Given the description of an element on the screen output the (x, y) to click on. 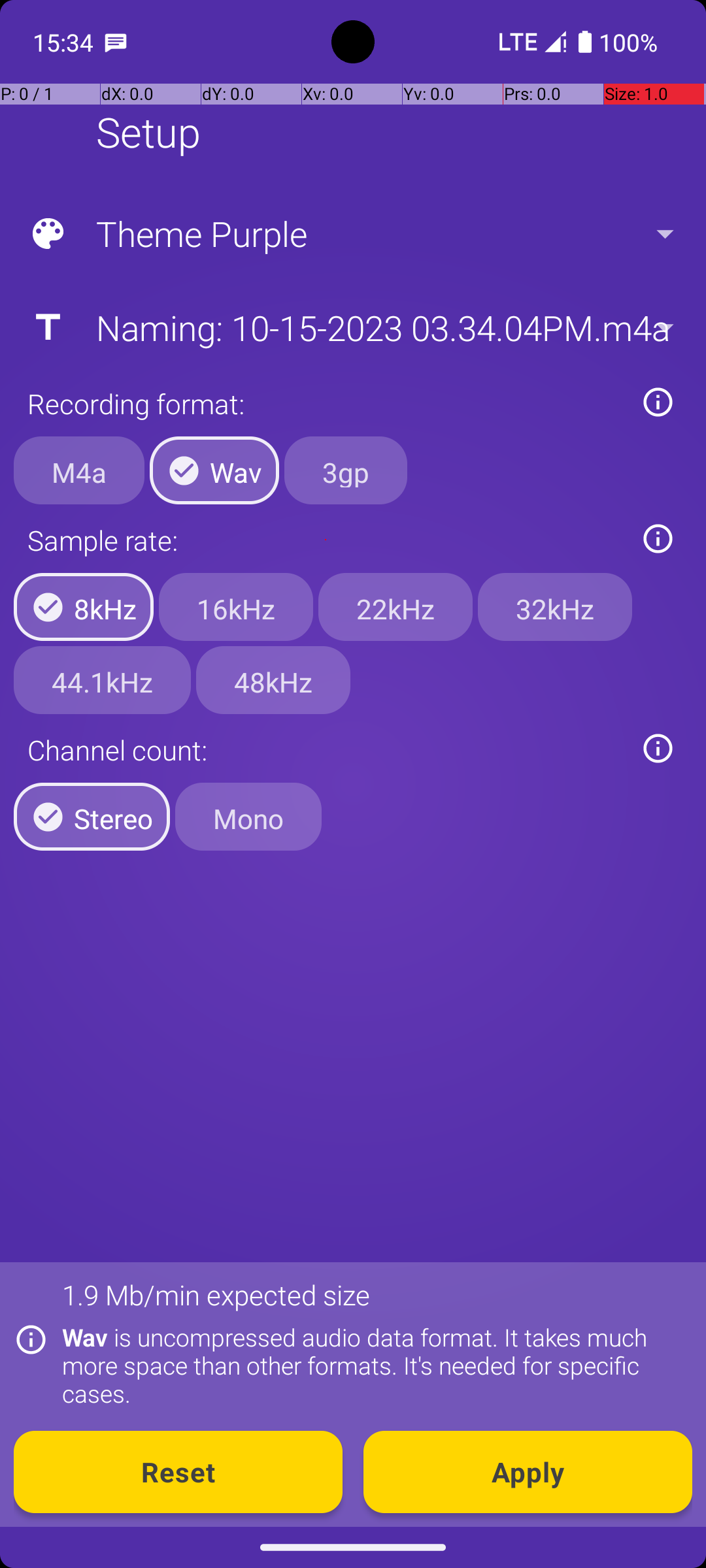
1.9 Mb/min expected size Element type: android.widget.TextView (215, 1294)
Wav is uncompressed audio data format. It takes much more space than other formats. It's needed for specific cases. Element type: android.widget.TextView (370, 1364)
Naming: 10-15-2023 03.34.04PM.m4a Element type: android.widget.TextView (352, 327)
